Given the description of an element on the screen output the (x, y) to click on. 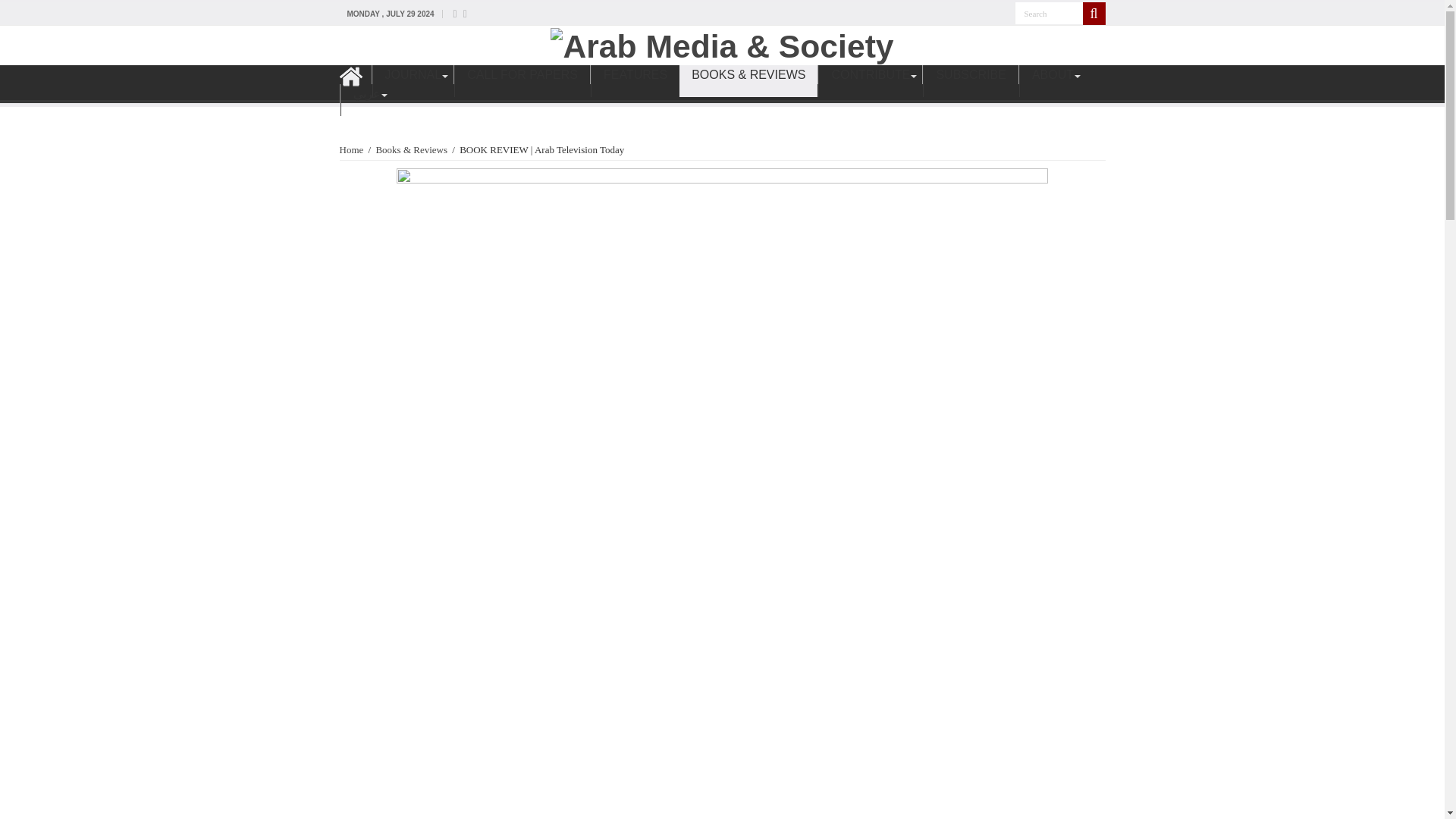
CALL FOR PAPERS (521, 81)
Search (1094, 13)
HOME (355, 81)
Search (1048, 13)
FEATURES (635, 81)
JOURNAL (411, 81)
CONTRIBUTE (869, 81)
Search (1048, 13)
Search (1048, 13)
